Given the description of an element on the screen output the (x, y) to click on. 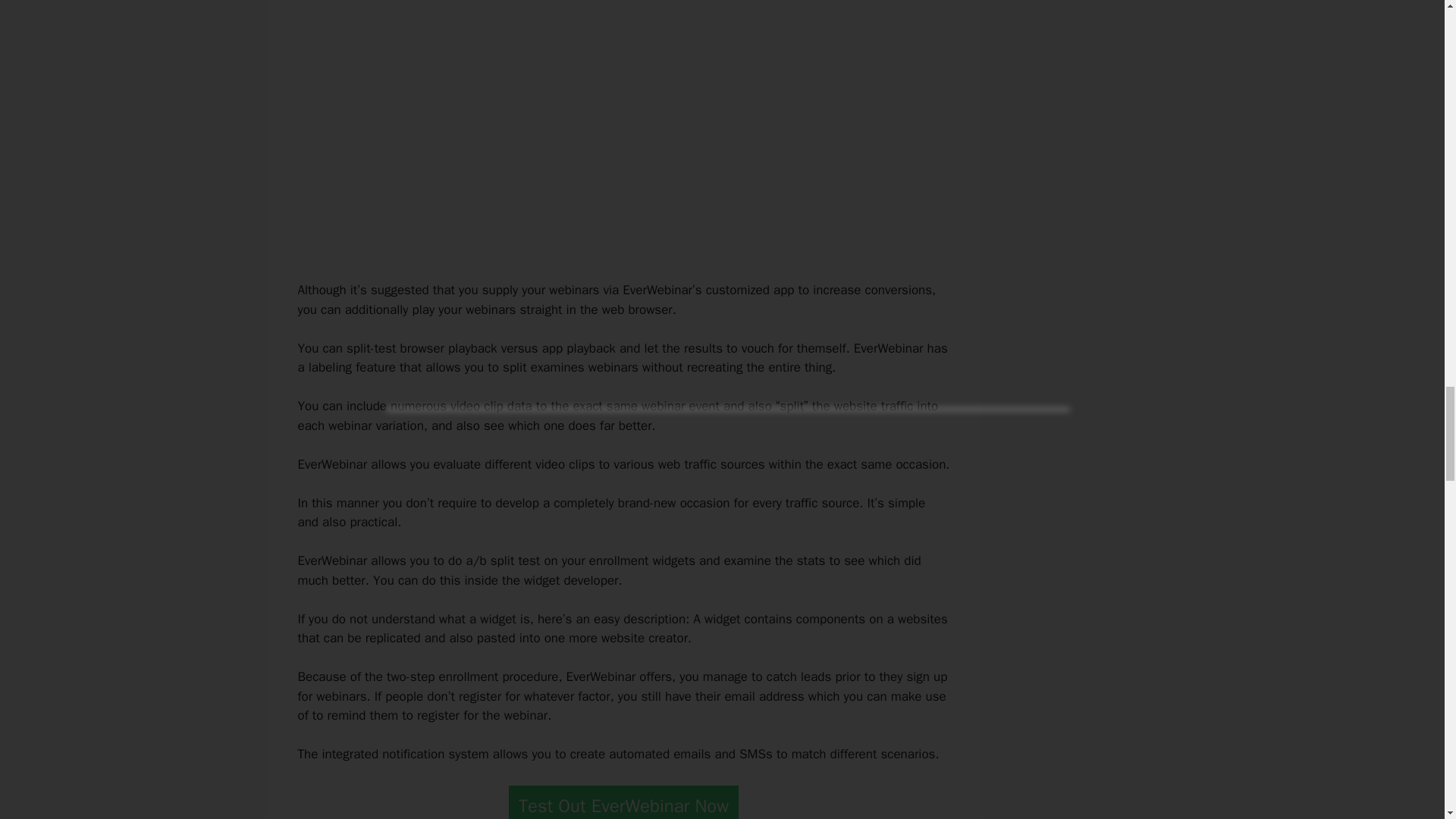
Test Out EverWebinar Now (623, 802)
